Given the description of an element on the screen output the (x, y) to click on. 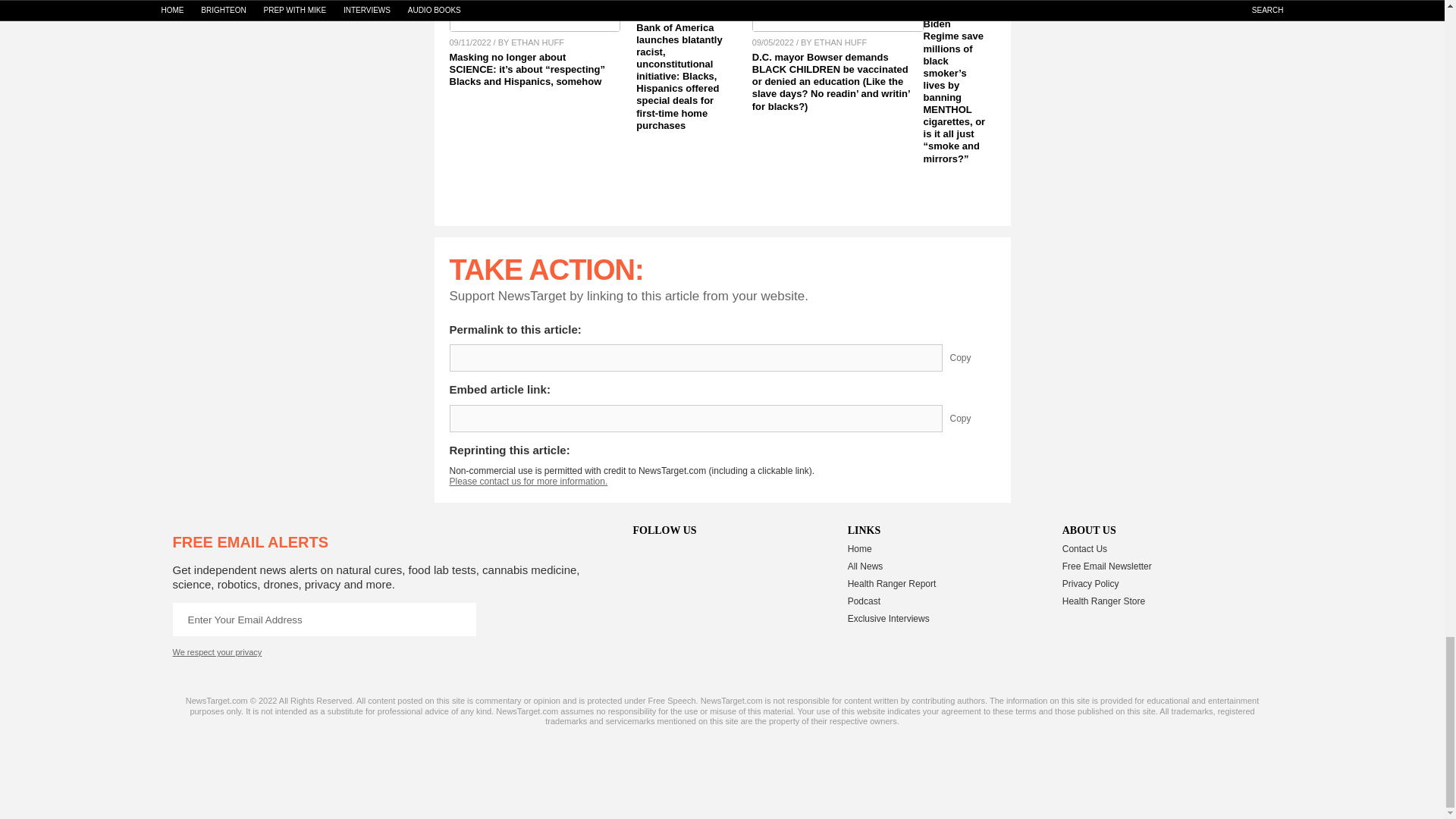
Copy Permalink (971, 357)
Continue (459, 619)
Copy Embed Link (971, 418)
